Given the description of an element on the screen output the (x, y) to click on. 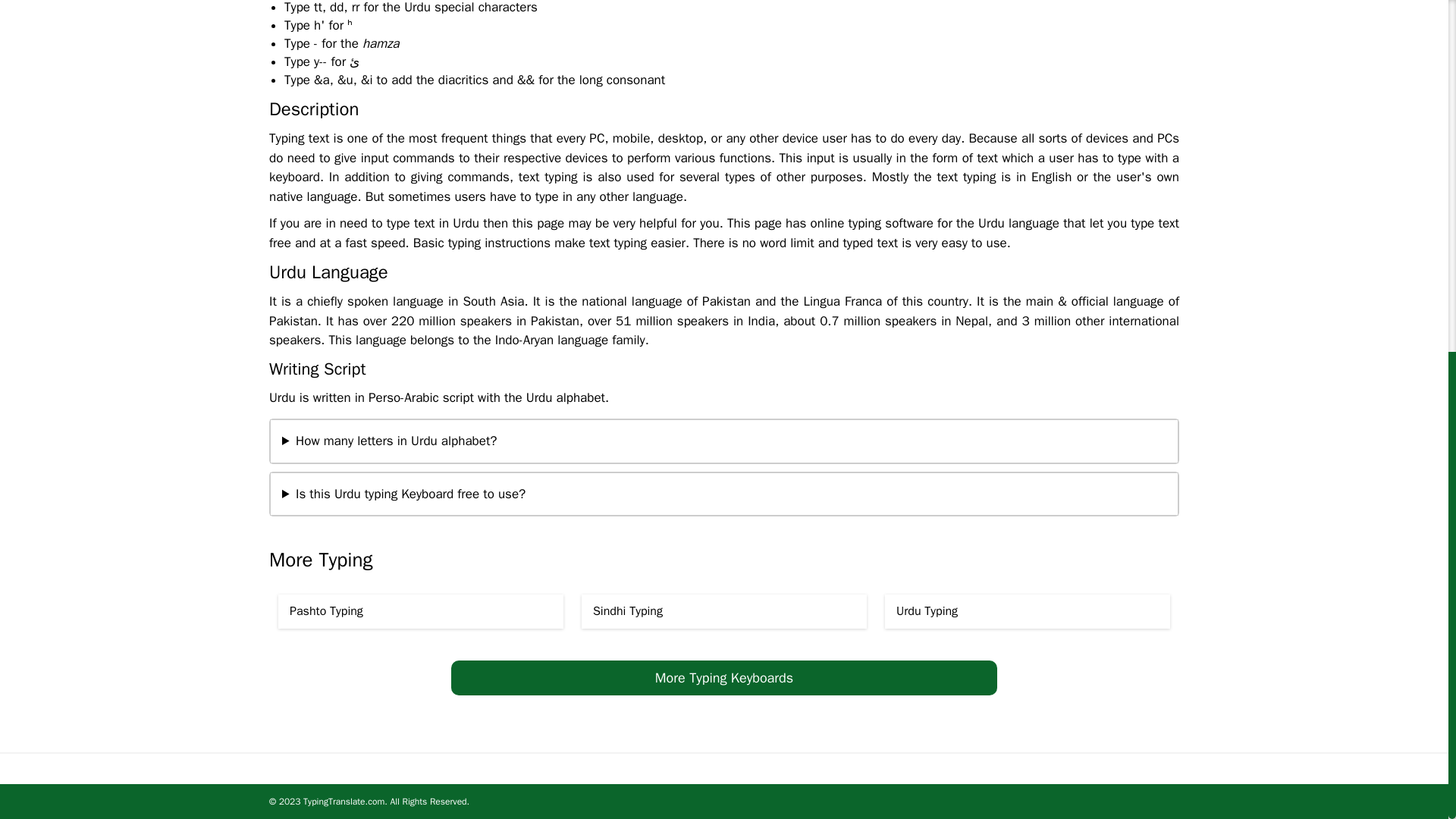
Urdu Typing (1027, 611)
Sindhi Typing (723, 611)
More Typing Keyboards (724, 677)
Pashto Typing (420, 611)
